Given the description of an element on the screen output the (x, y) to click on. 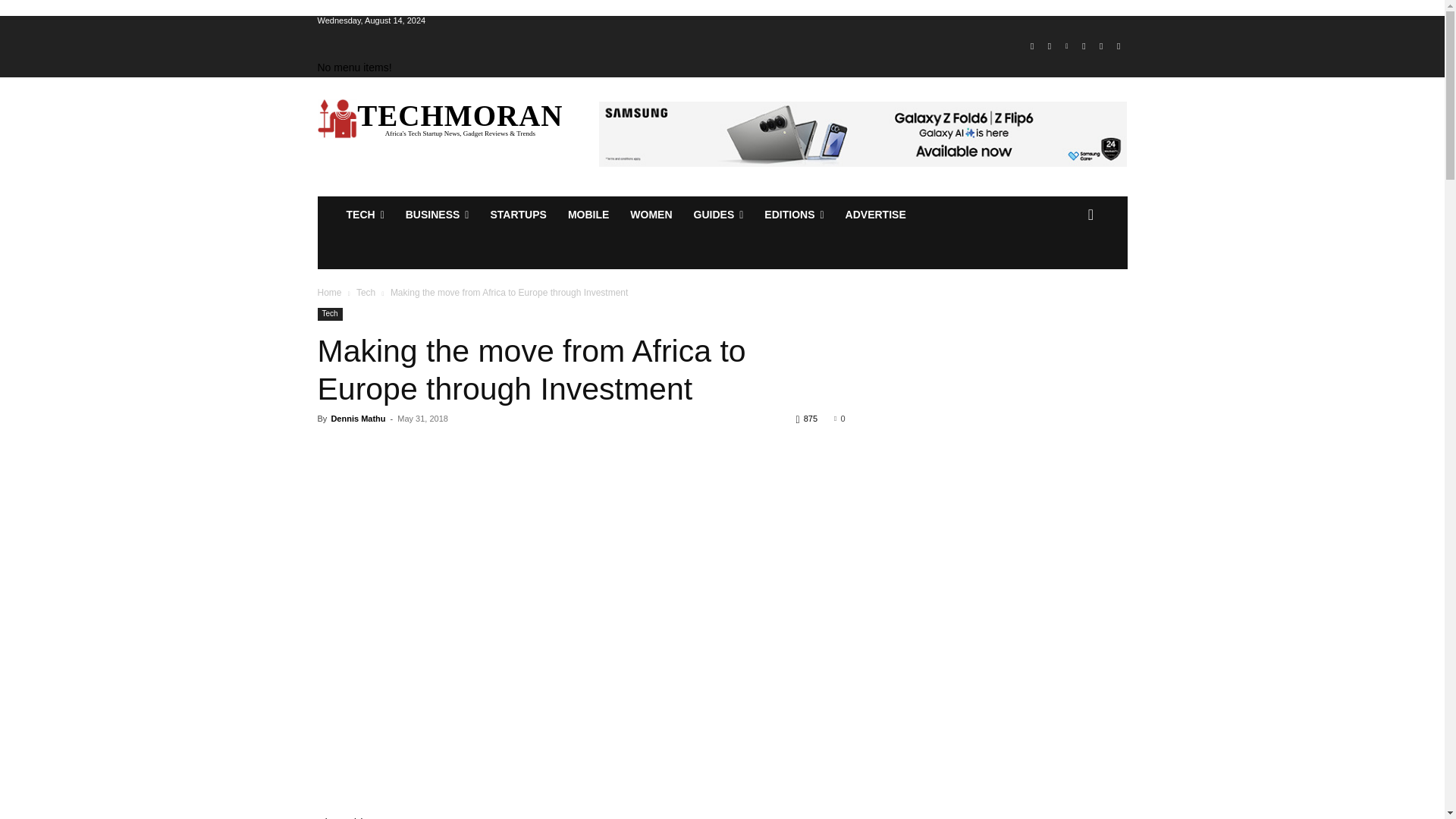
Twitter (1101, 46)
View all posts in Tech (365, 292)
Linkedin (1066, 46)
Facebook (1032, 46)
BUSINESS (437, 214)
Youtube (1117, 46)
WOMEN (651, 214)
Instagram (1049, 46)
GUIDES (718, 214)
TECH (364, 214)
